Given the description of an element on the screen output the (x, y) to click on. 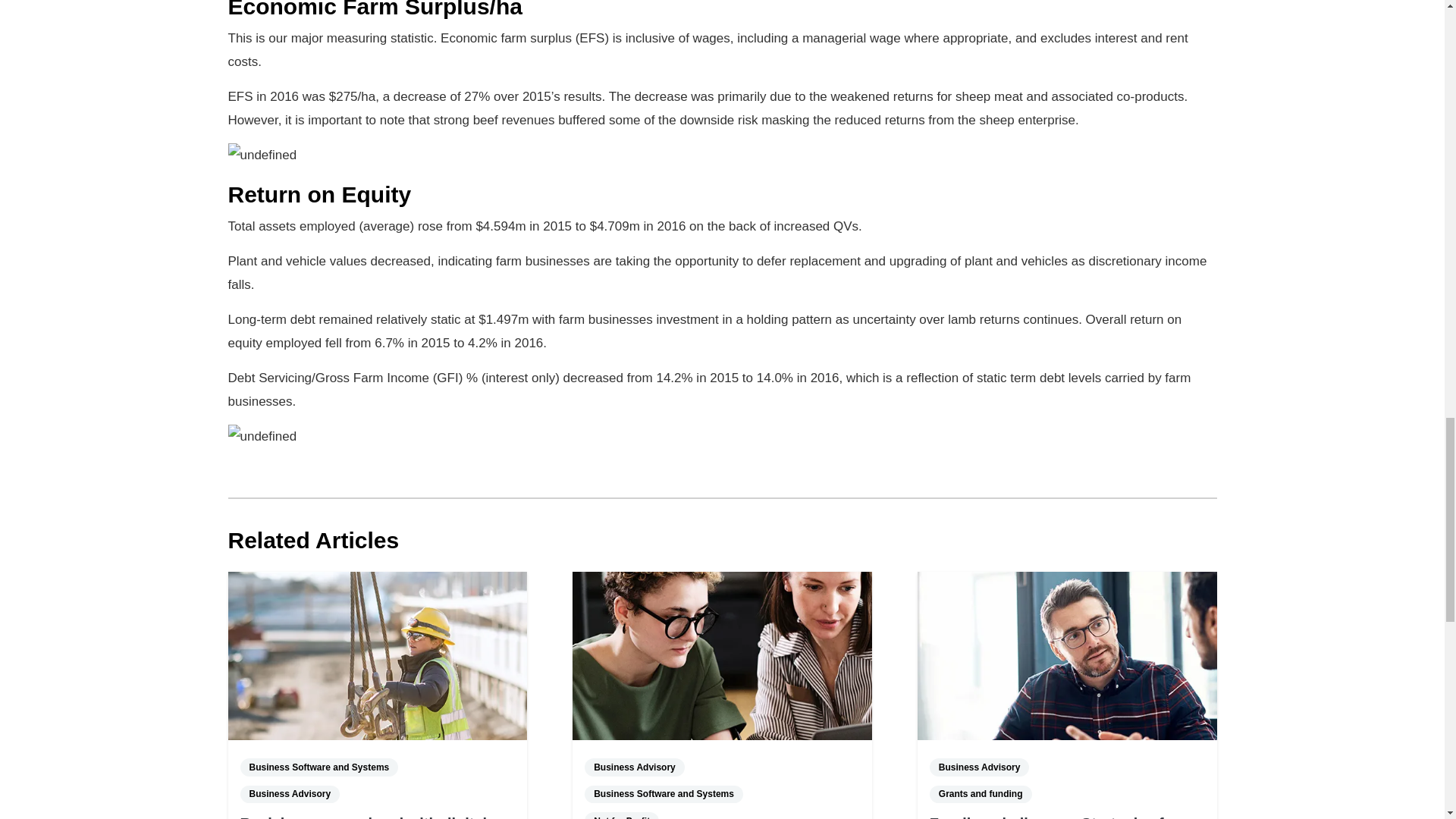
undefined (262, 436)
undefined (262, 155)
